Given the description of an element on the screen output the (x, y) to click on. 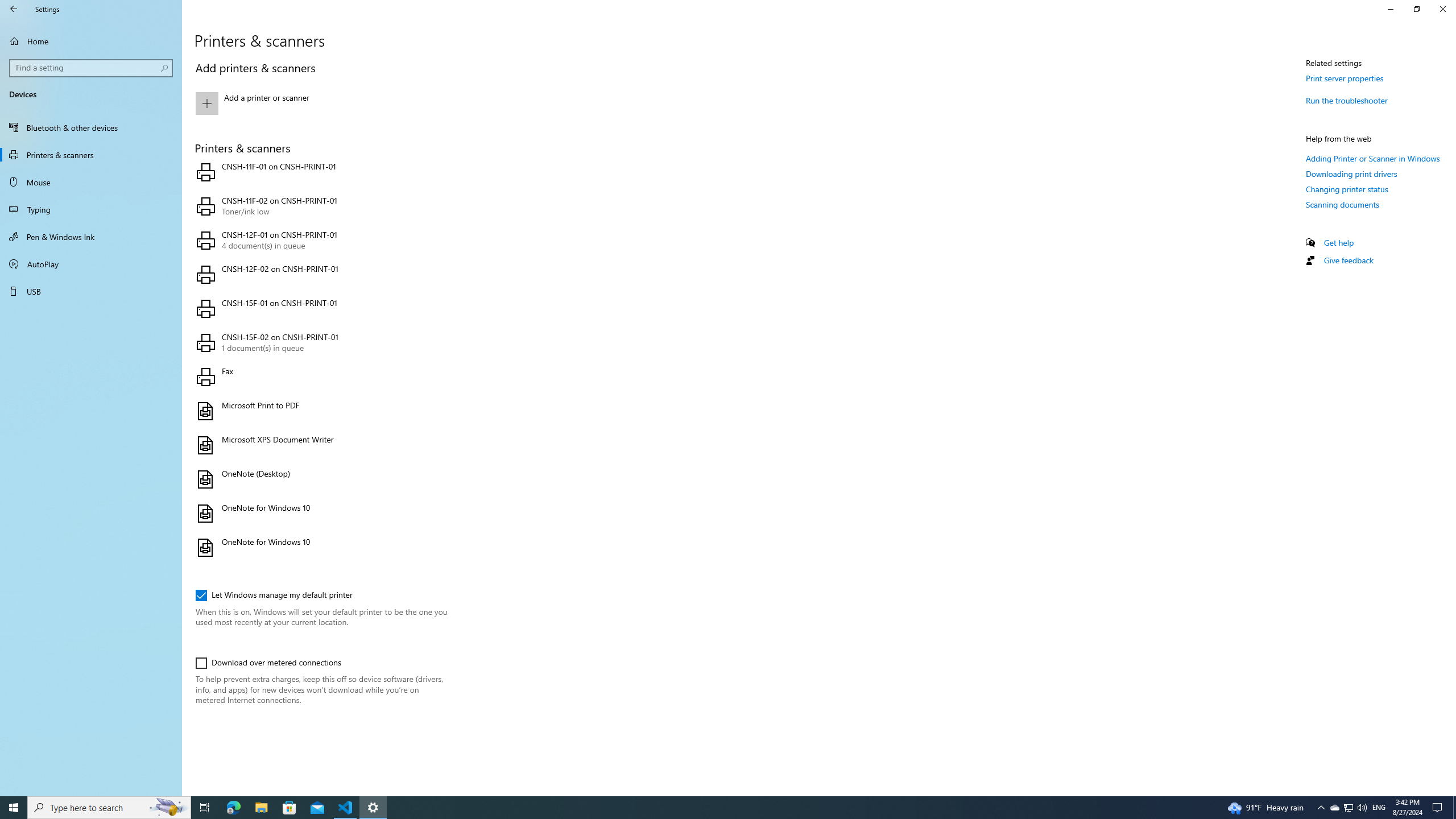
Download over metered connections (268, 663)
Print server properties (1344, 77)
Add a printer or scanner (319, 103)
Microsoft XPS Document Writer (319, 445)
Search box, Find a setting (91, 67)
Printers & scanners (91, 154)
Downloading print drivers (1351, 173)
Run the troubleshooter (1346, 100)
USB (91, 290)
